Given the description of an element on the screen output the (x, y) to click on. 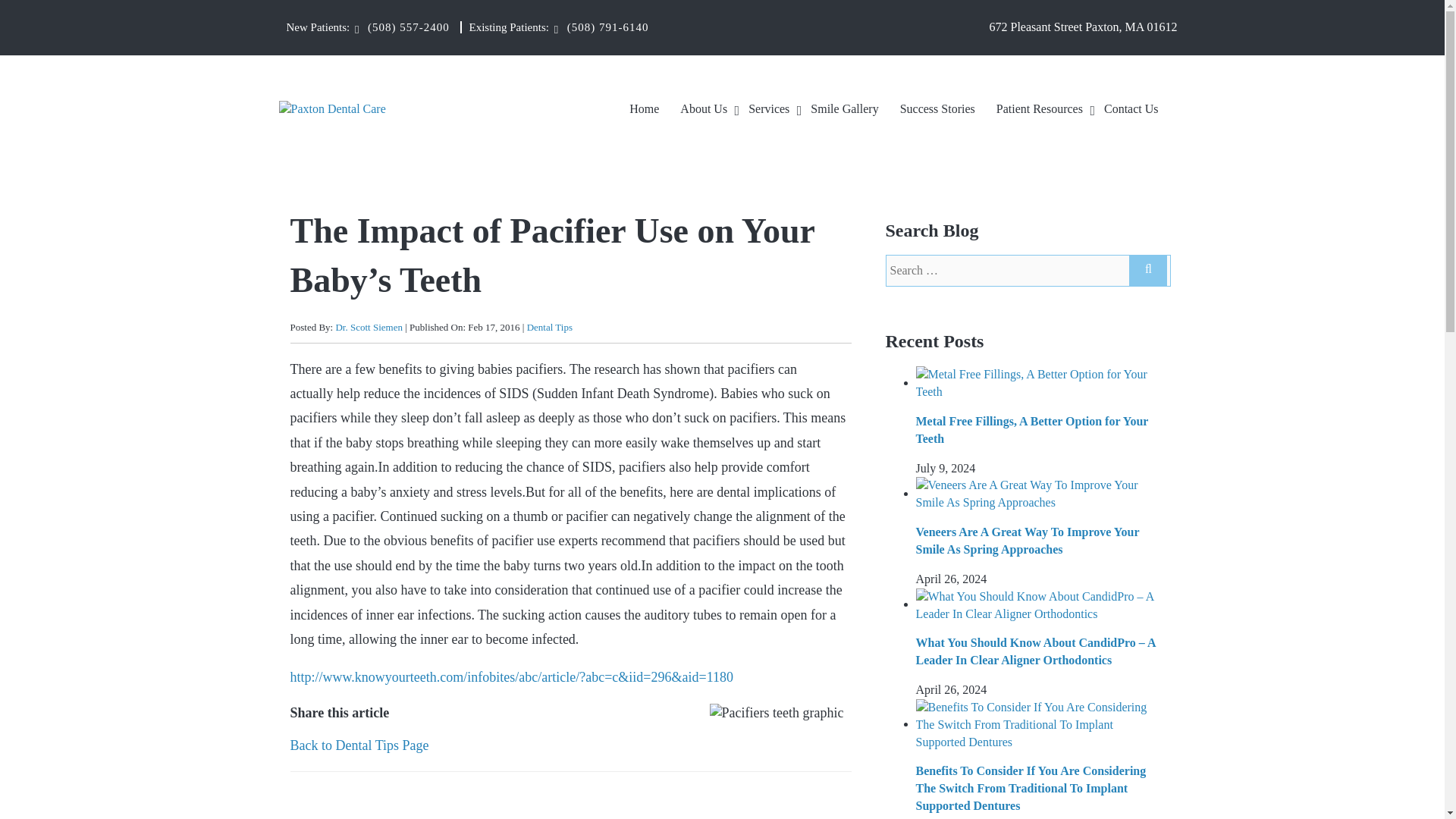
Services (768, 113)
About Us (703, 113)
Home (643, 113)
672 Pleasant Street Paxton, MA 01612 (1083, 26)
